Given the description of an element on the screen output the (x, y) to click on. 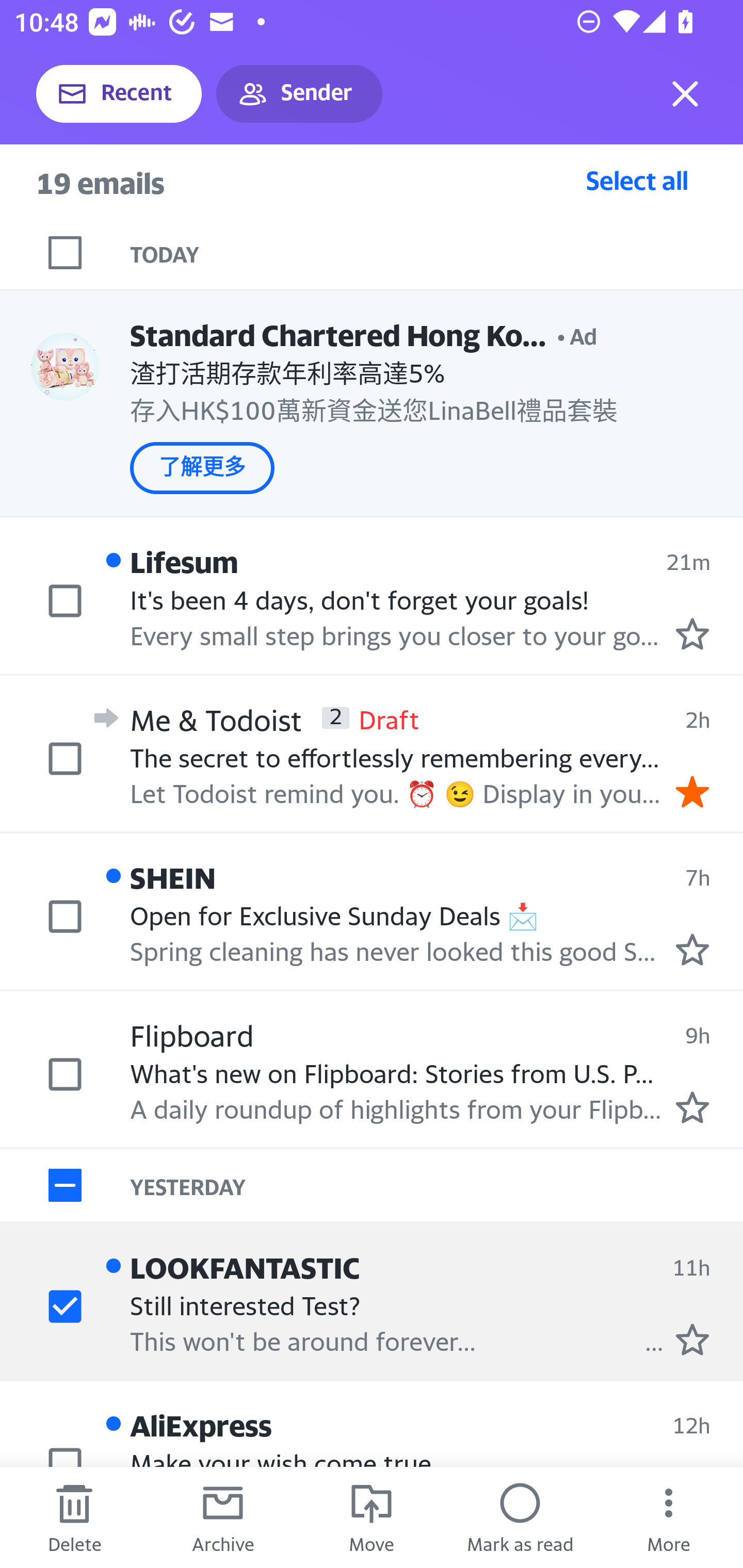
Sender (299, 93)
Exit selection mode (684, 93)
Select all (637, 180)
TODAY (436, 252)
Mark as starred. (692, 634)
Remove star. (692, 791)
Mark as starred. (692, 949)
Mark as starred. (692, 1107)
YESTERDAY (436, 1184)
Mark as starred. (692, 1339)
Delete (74, 1517)
Archive (222, 1517)
Move (371, 1517)
Mark as read (519, 1517)
More (668, 1517)
